Given the description of an element on the screen output the (x, y) to click on. 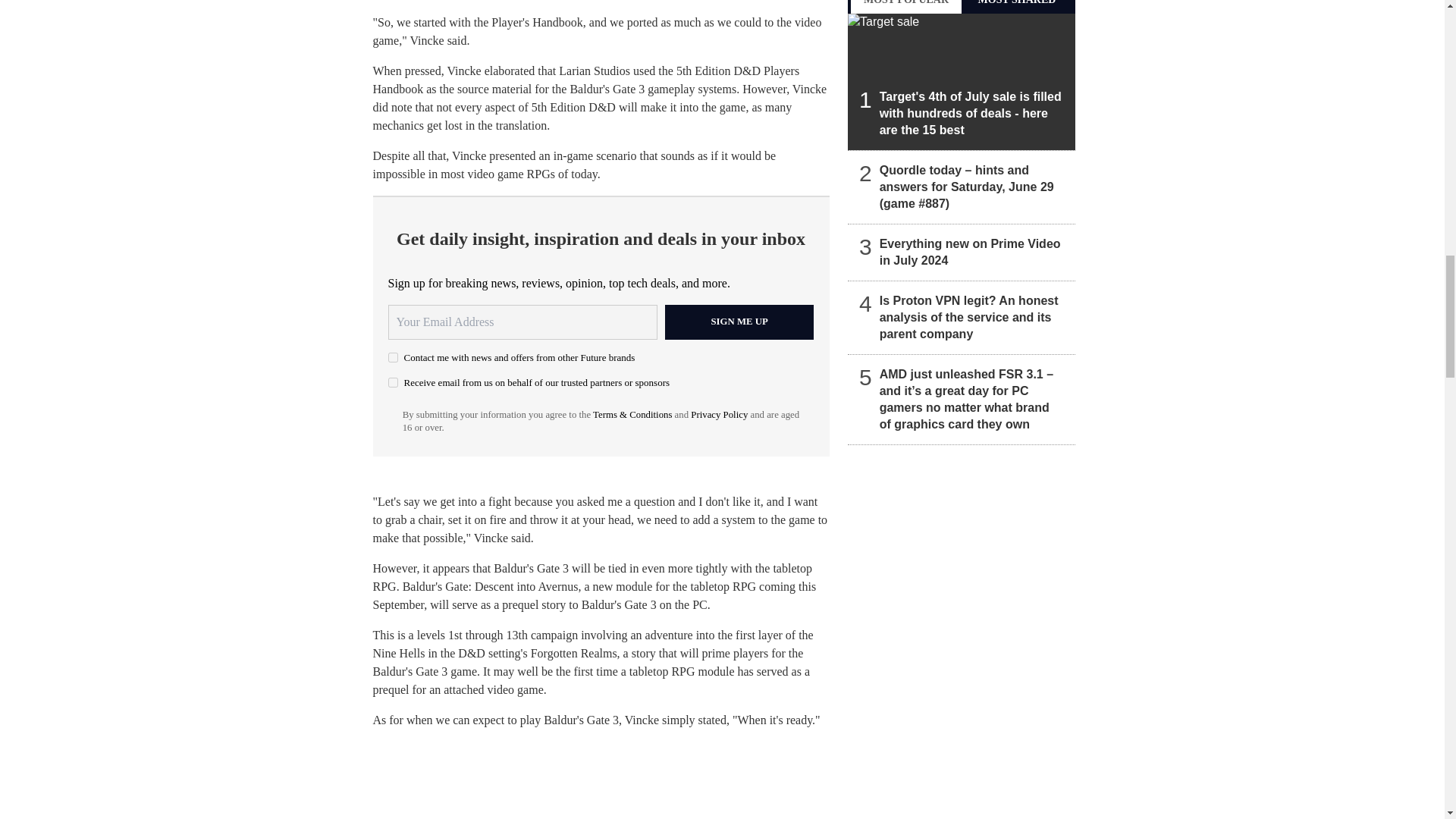
Sign me up (739, 321)
on (392, 382)
on (392, 357)
